Given the description of an element on the screen output the (x, y) to click on. 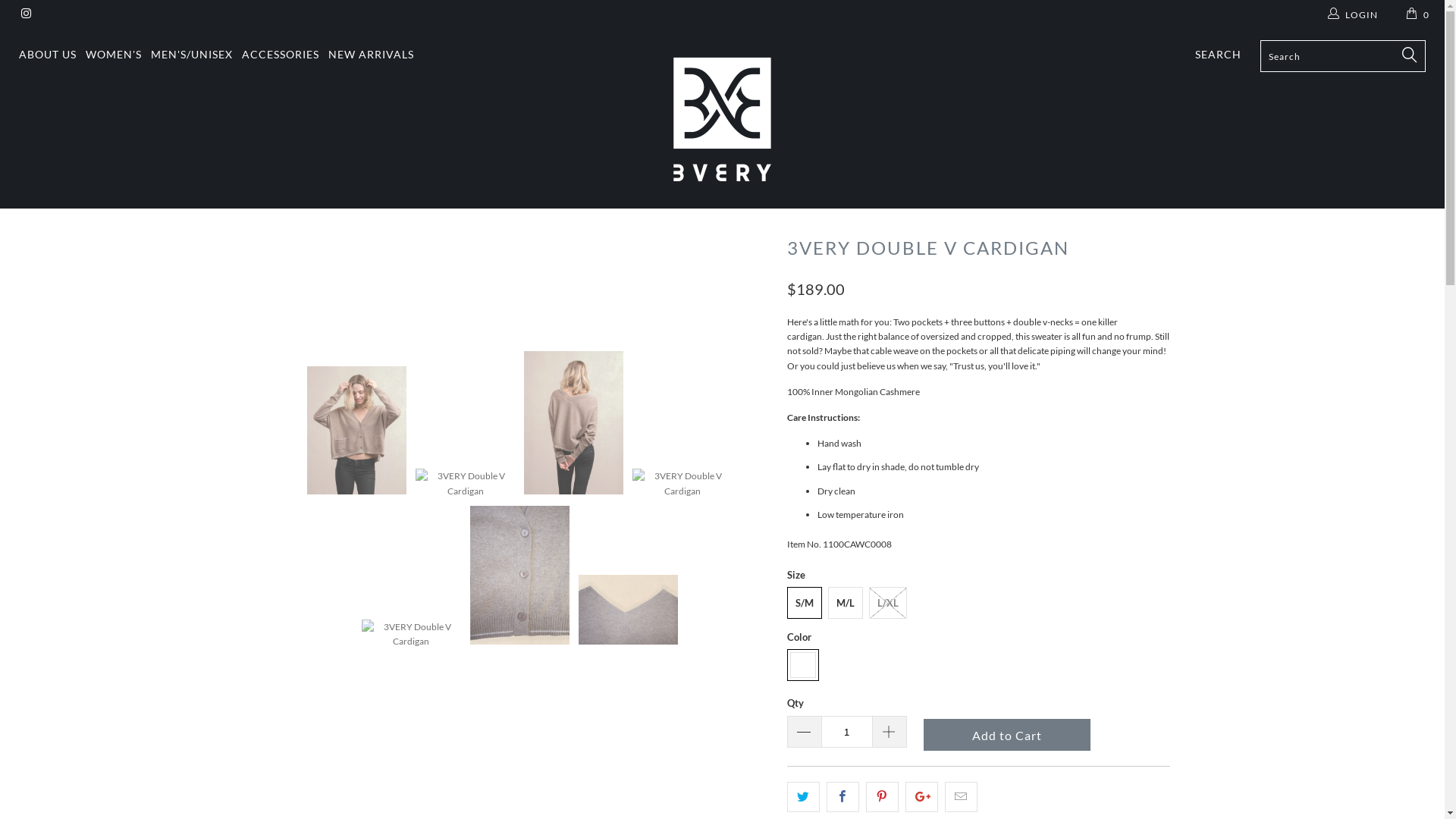
WOMEN'S Element type: text (113, 54)
SEARCH Element type: text (1218, 54)
MEN'S/UNISEX Element type: text (191, 54)
3VERY Element type: hover (721, 119)
Email this to a friend Element type: hover (960, 796)
0 Element type: text (1418, 15)
LOGIN Element type: text (1352, 15)
Share this on Facebook Element type: hover (842, 796)
Share this on Pinterest Element type: hover (882, 796)
NEW ARRIVALS Element type: text (371, 54)
Share this on Google+ Element type: hover (921, 796)
3VERY on Instagram Element type: hover (24, 14)
Share this on Twitter Element type: hover (803, 796)
Add to Cart Element type: text (1006, 734)
ACCESSORIES Element type: text (280, 54)
ABOUT US Element type: text (47, 54)
